Given the description of an element on the screen output the (x, y) to click on. 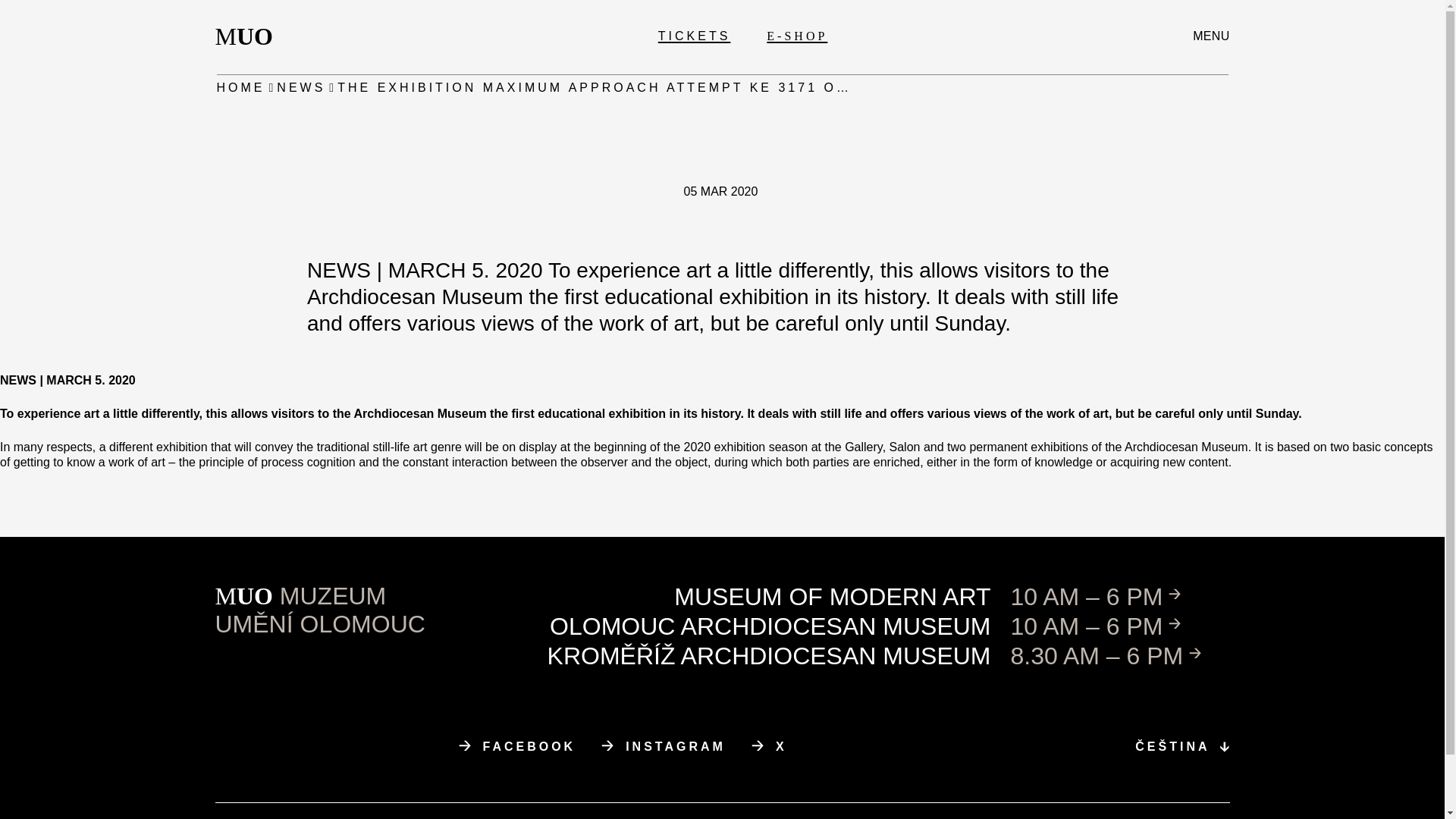
OLOMOUC ARCHDIOCESAN MUSEUM (517, 746)
E-SHOP (248, 36)
MENU (769, 626)
HOME (797, 35)
TICKETS (1210, 35)
MUSEUM OF MODERN ART (662, 746)
NEWS (240, 88)
